Given the description of an element on the screen output the (x, y) to click on. 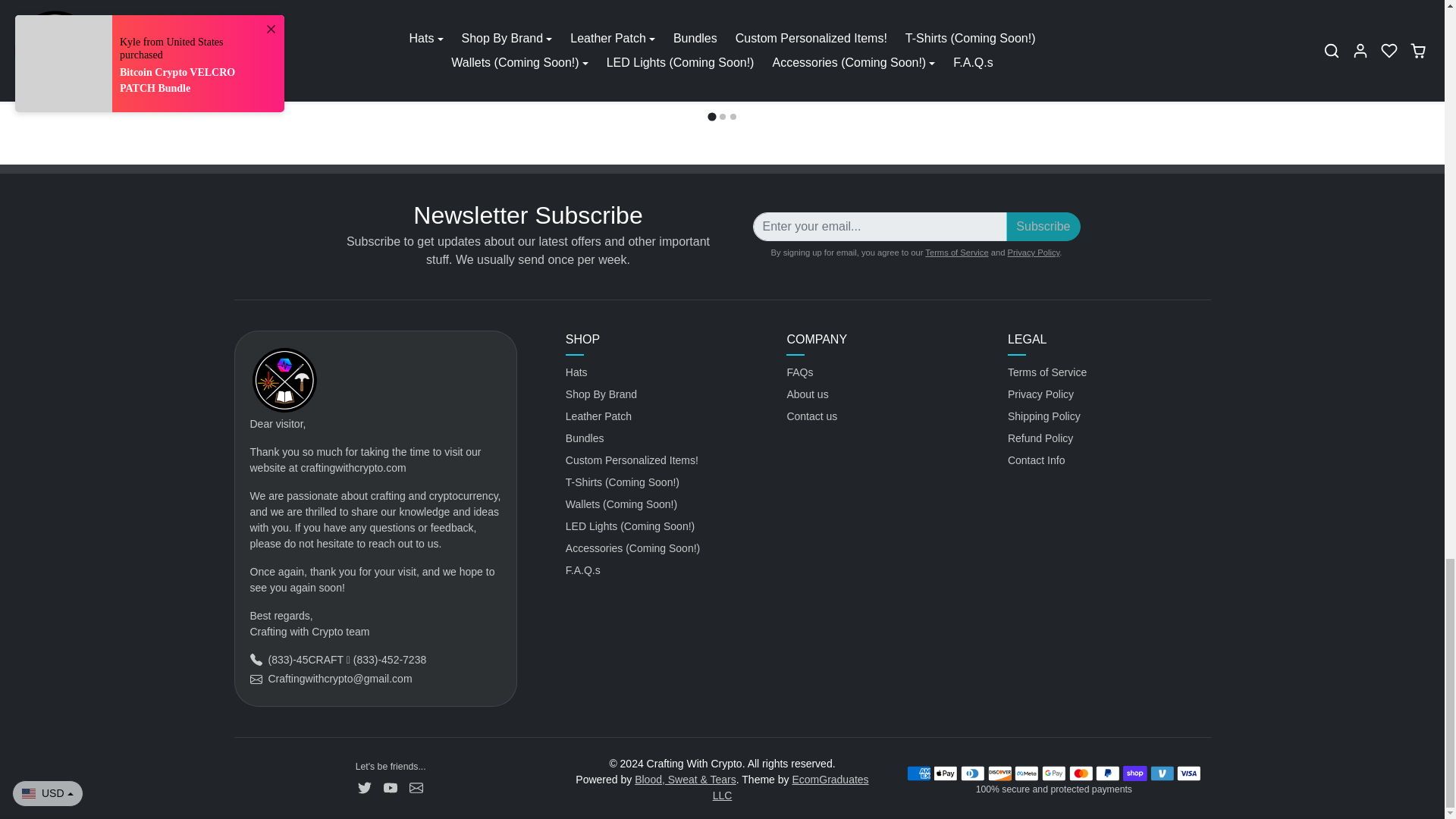
American Express (918, 773)
